Given the description of an element on the screen output the (x, y) to click on. 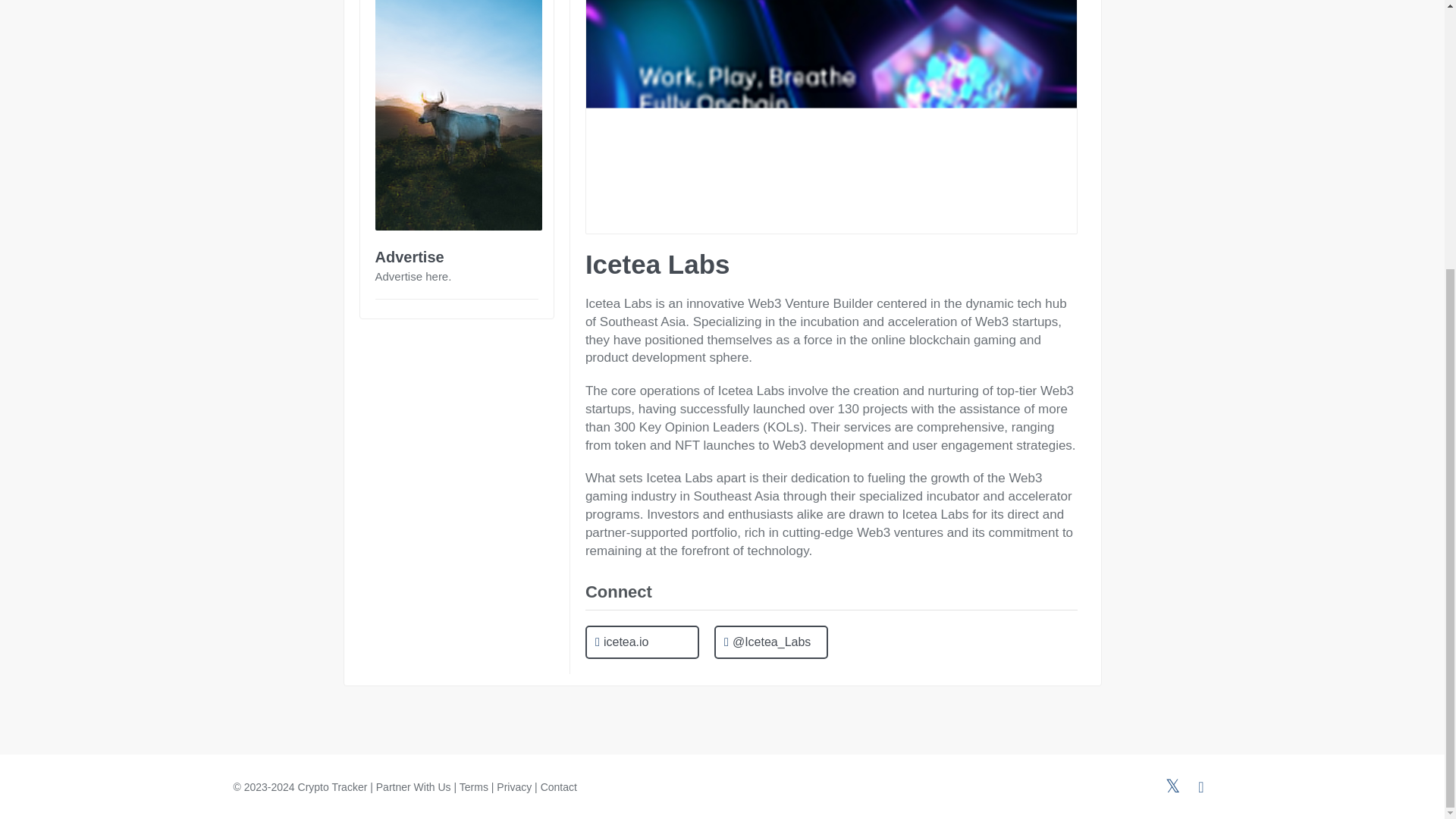
Terms (473, 787)
icetea.io (641, 642)
Crypto Tracker (333, 787)
Partner With Us (413, 787)
Advertise (409, 256)
Privacy (513, 787)
Contact (558, 787)
